Given the description of an element on the screen output the (x, y) to click on. 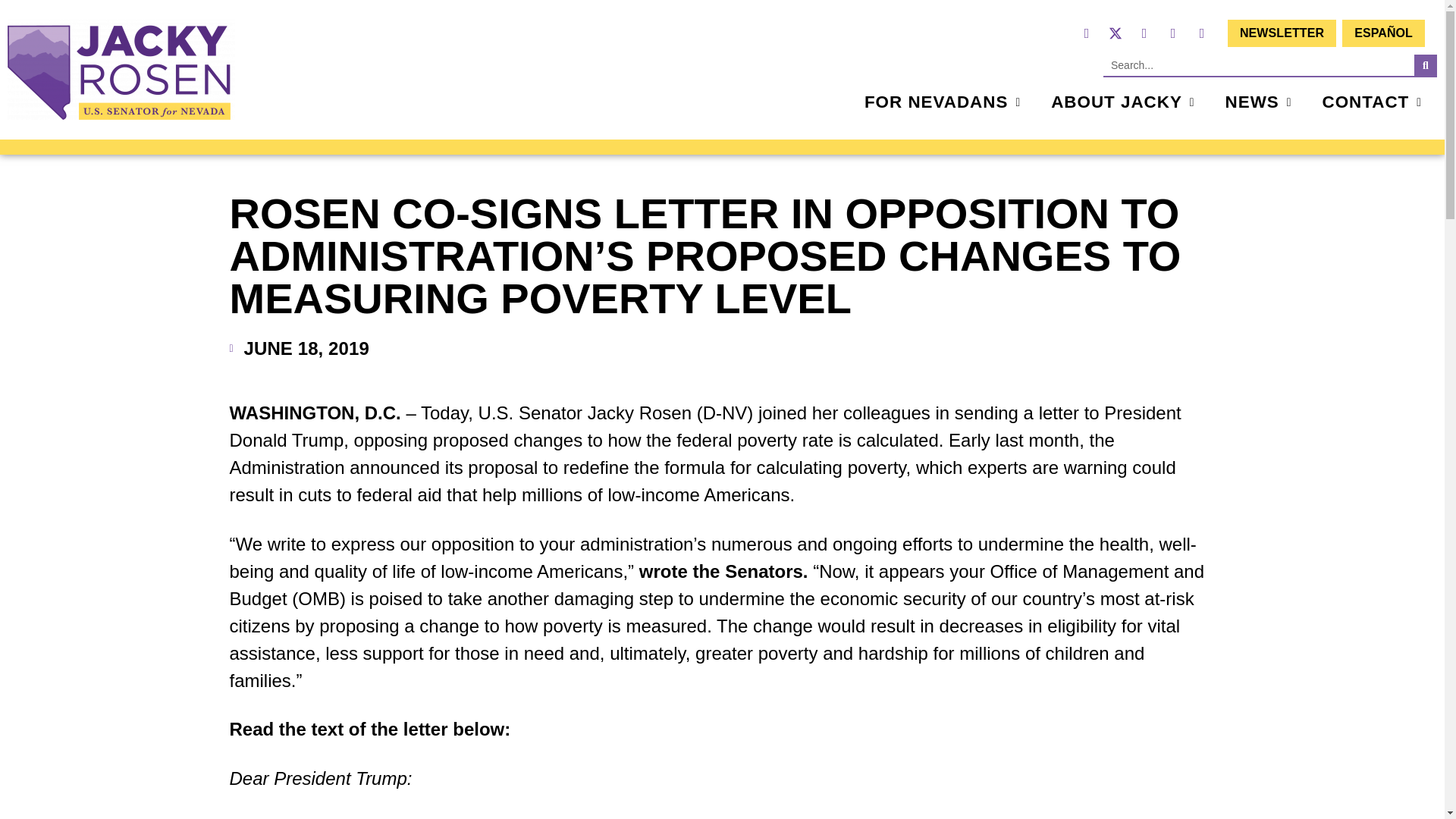
NEWS (1258, 102)
ABOUT JACKY (1122, 102)
FOR NEVADANS (941, 102)
